Given the description of an element on the screen output the (x, y) to click on. 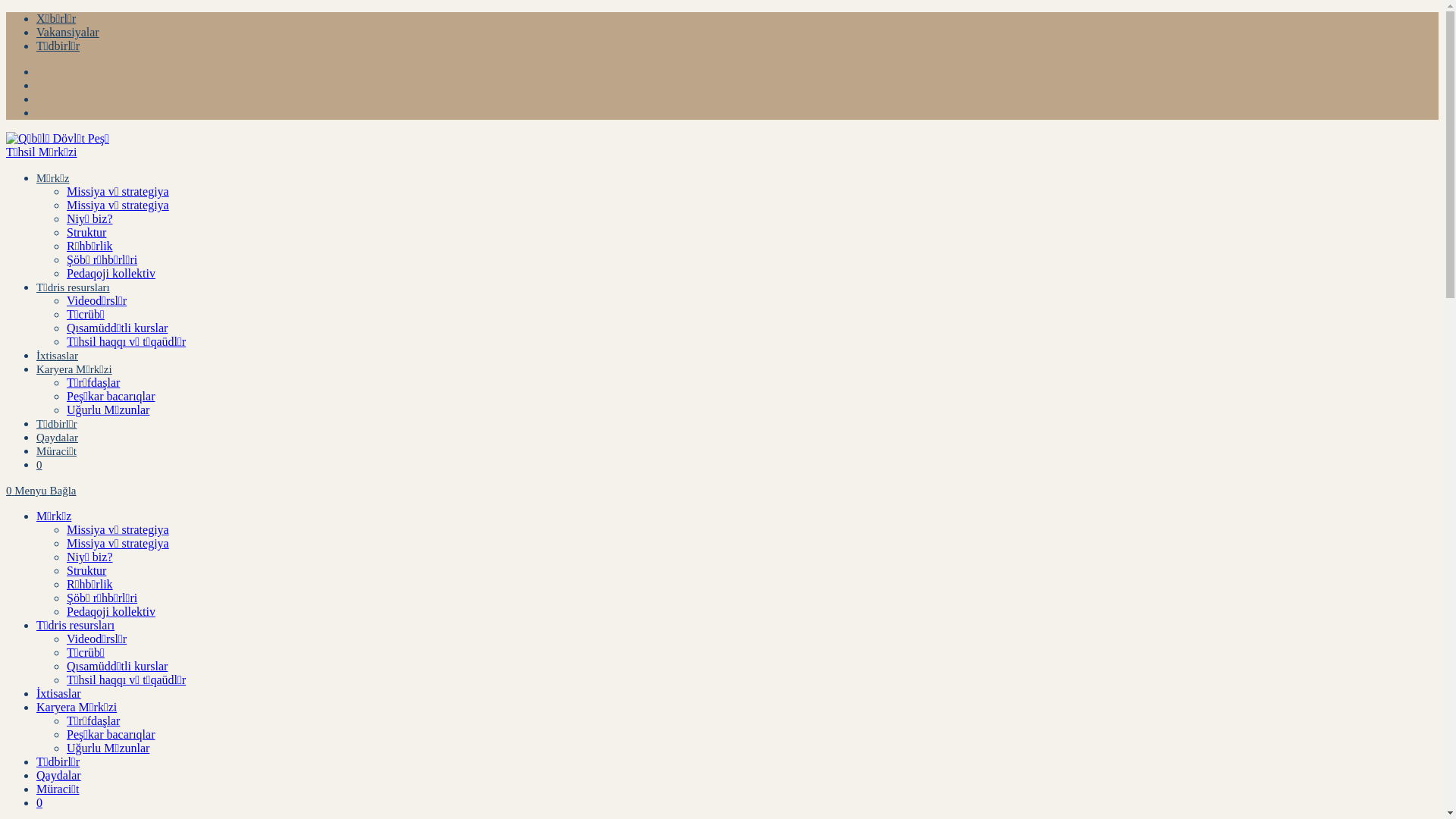
Pedaqoji kollektiv Element type: text (110, 272)
Struktur Element type: text (86, 570)
Skip to content Element type: text (5, 11)
Pedaqoji kollektiv Element type: text (110, 611)
Qaydalar Element type: text (57, 437)
Struktur Element type: text (86, 231)
Qaydalar Element type: text (58, 774)
0 Element type: text (10, 490)
0 Element type: text (39, 464)
0 Element type: text (39, 802)
Vakansiyalar Element type: text (67, 31)
